Given the description of an element on the screen output the (x, y) to click on. 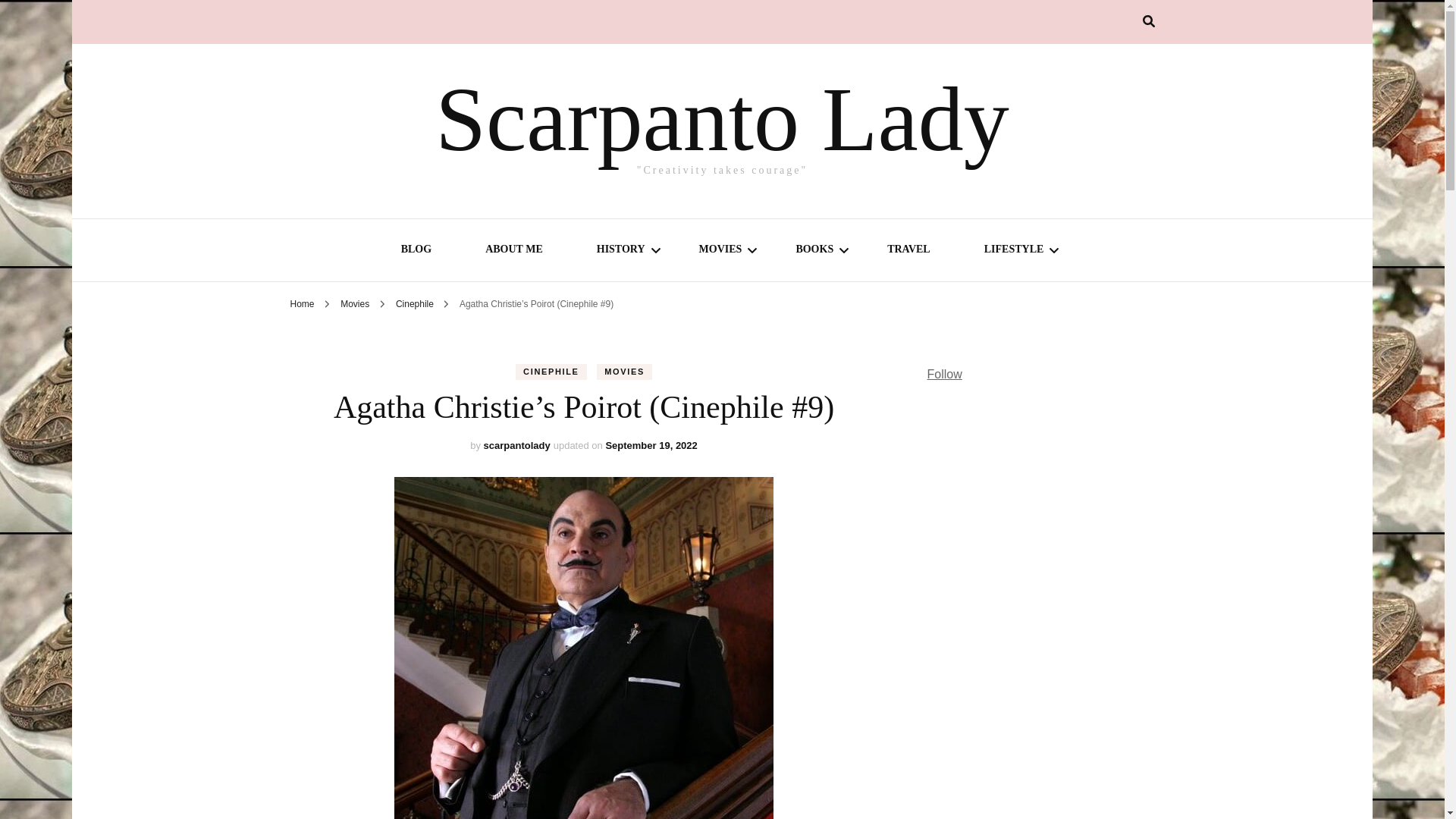
HISTORY (620, 251)
CINEPHILE (550, 371)
ABOUT ME (513, 251)
MOVIES (720, 251)
Travel (908, 251)
September 19, 2022 (651, 445)
MOVIES (624, 371)
Home (301, 303)
Movies (355, 303)
Movies (720, 251)
